Given the description of an element on the screen output the (x, y) to click on. 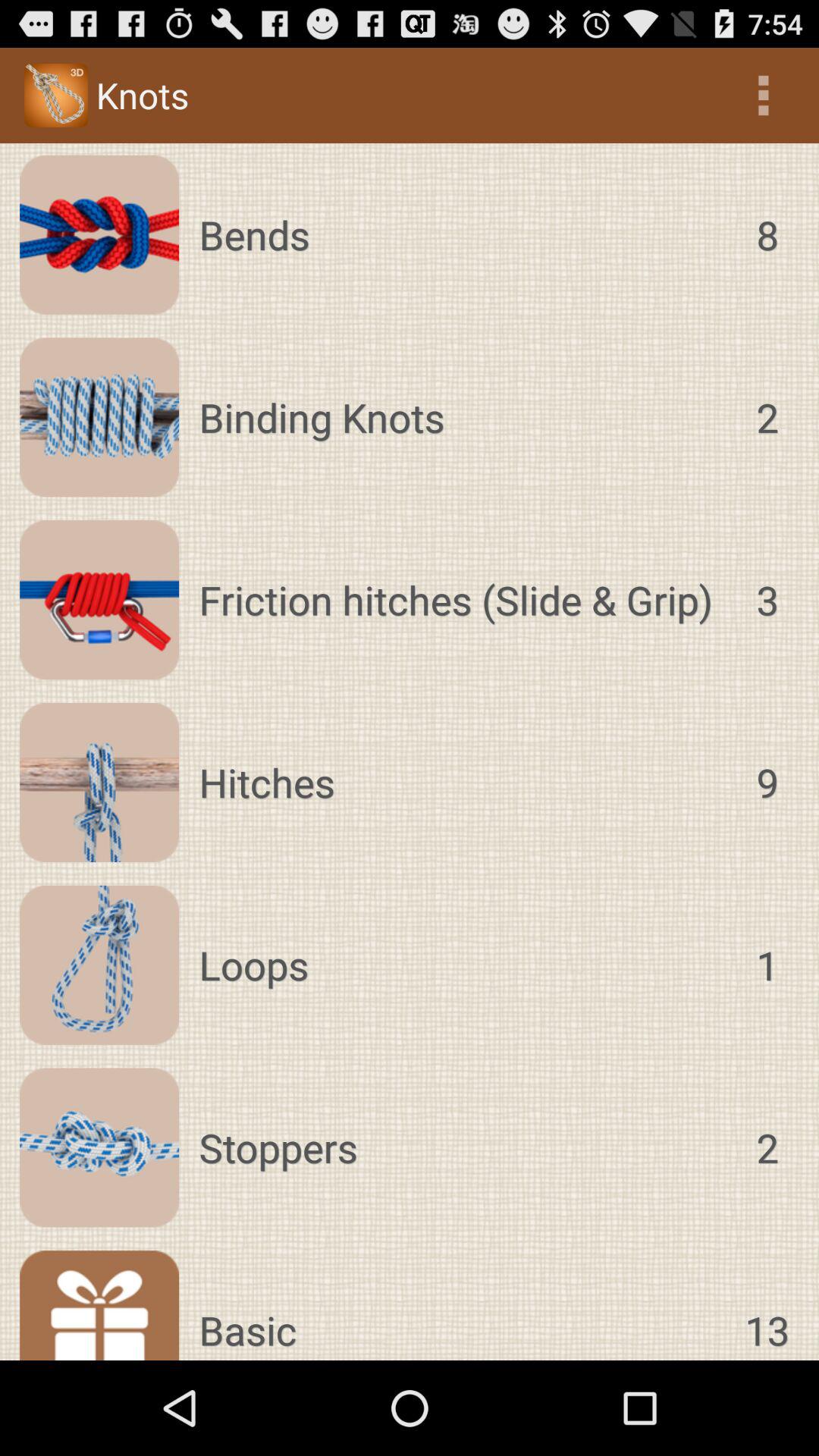
press item next to the knots item (763, 95)
